Given the description of an element on the screen output the (x, y) to click on. 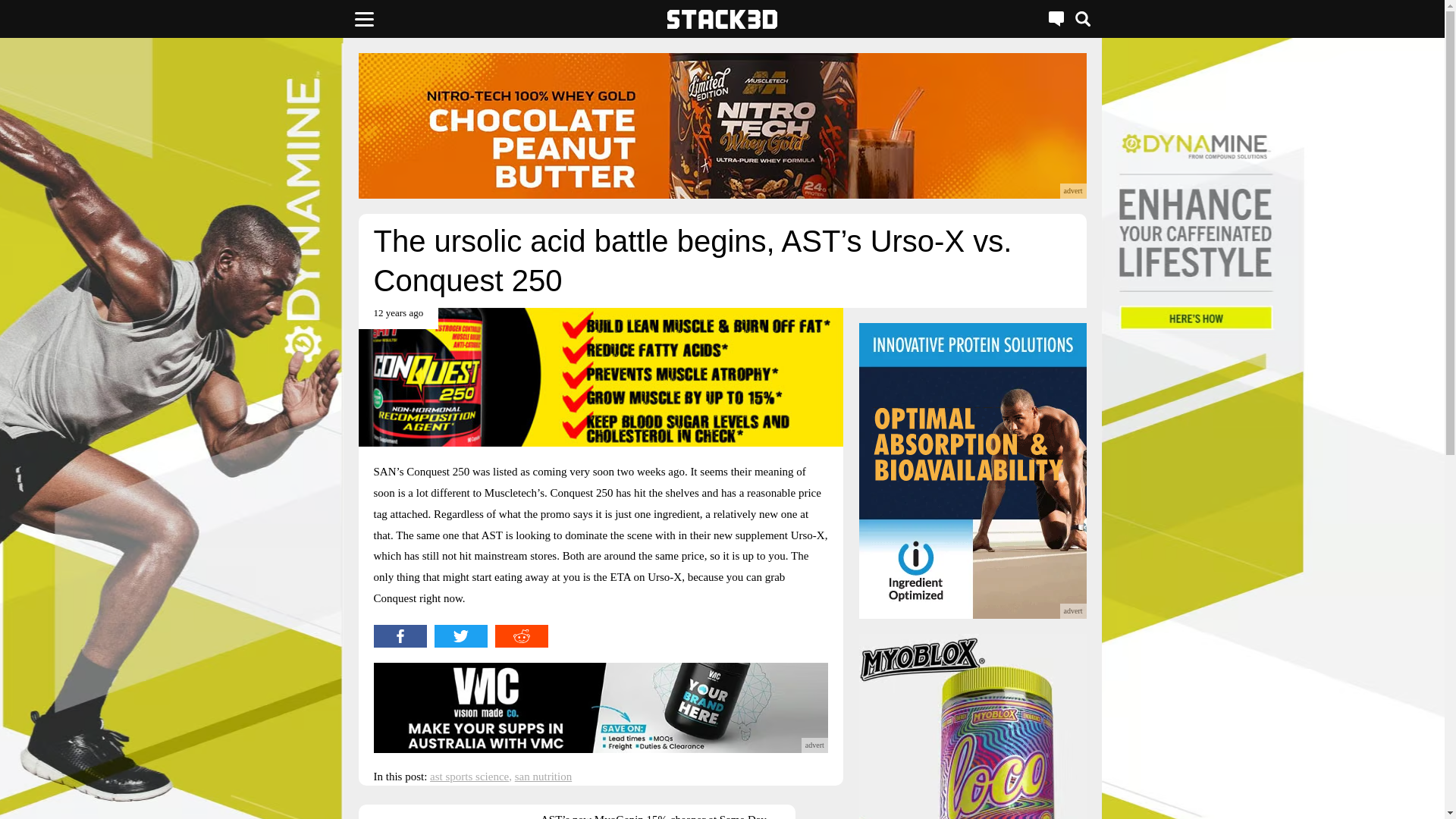
April 15th 2012 (398, 318)
ast sports science (468, 776)
san nutrition (543, 776)
